Given the description of an element on the screen output the (x, y) to click on. 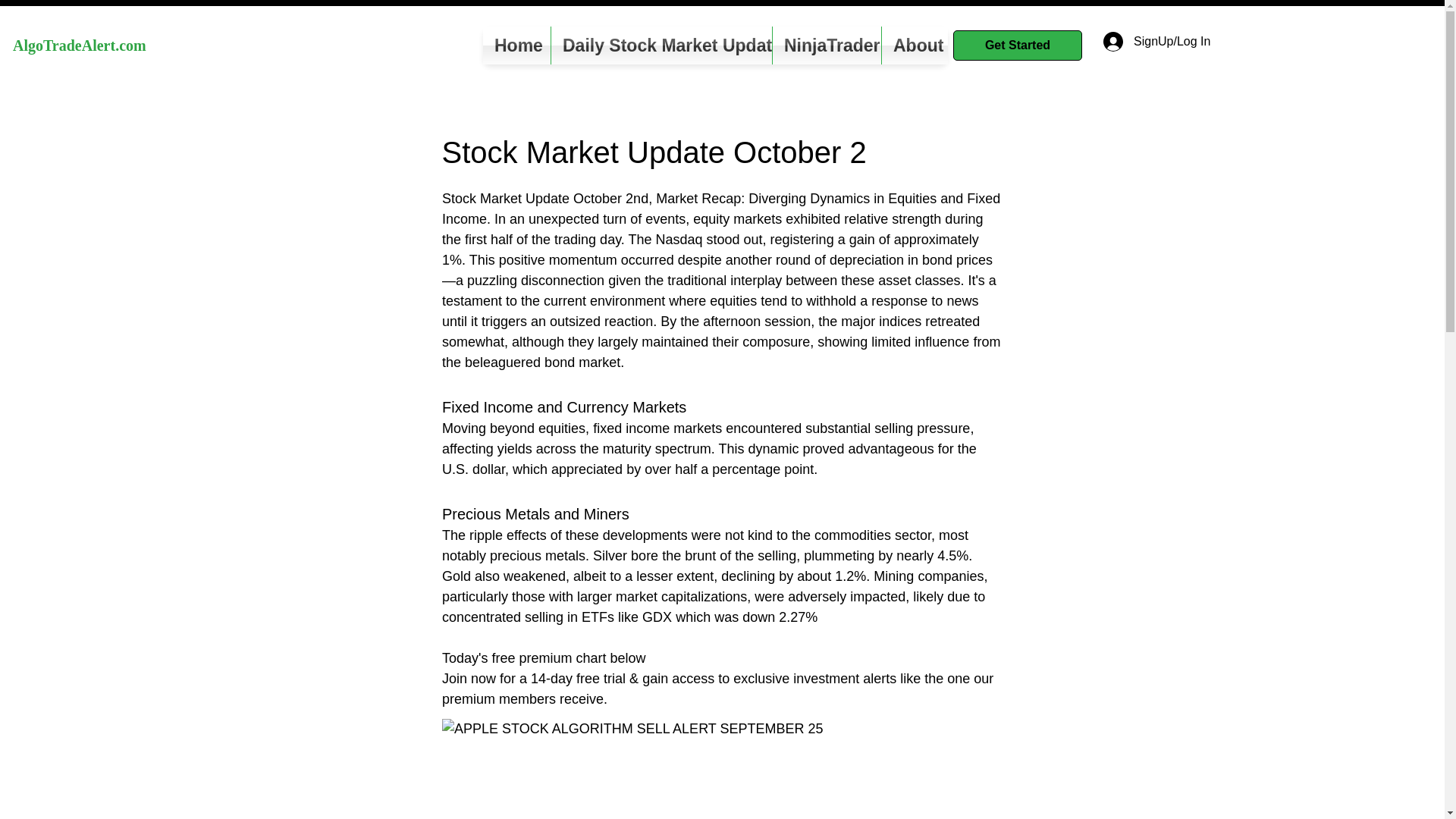
Get Started (1017, 45)
Daily Stock Market Update (661, 45)
AlgoTradeAlert.com (80, 45)
About (914, 45)
Home (516, 45)
